Given the description of an element on the screen output the (x, y) to click on. 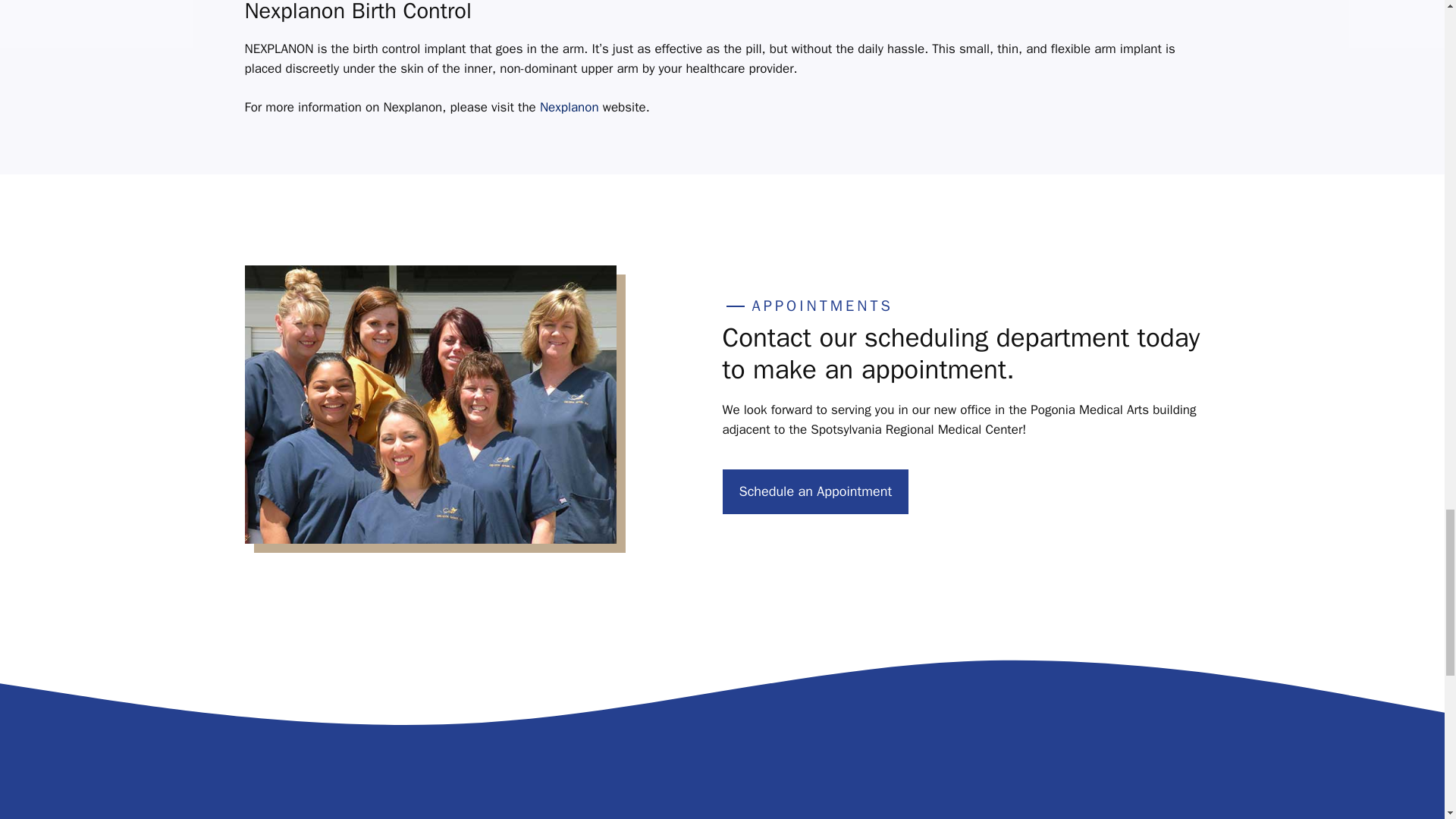
Nexplanon (569, 107)
Schedule an Appointment (815, 491)
